Given the description of an element on the screen output the (x, y) to click on. 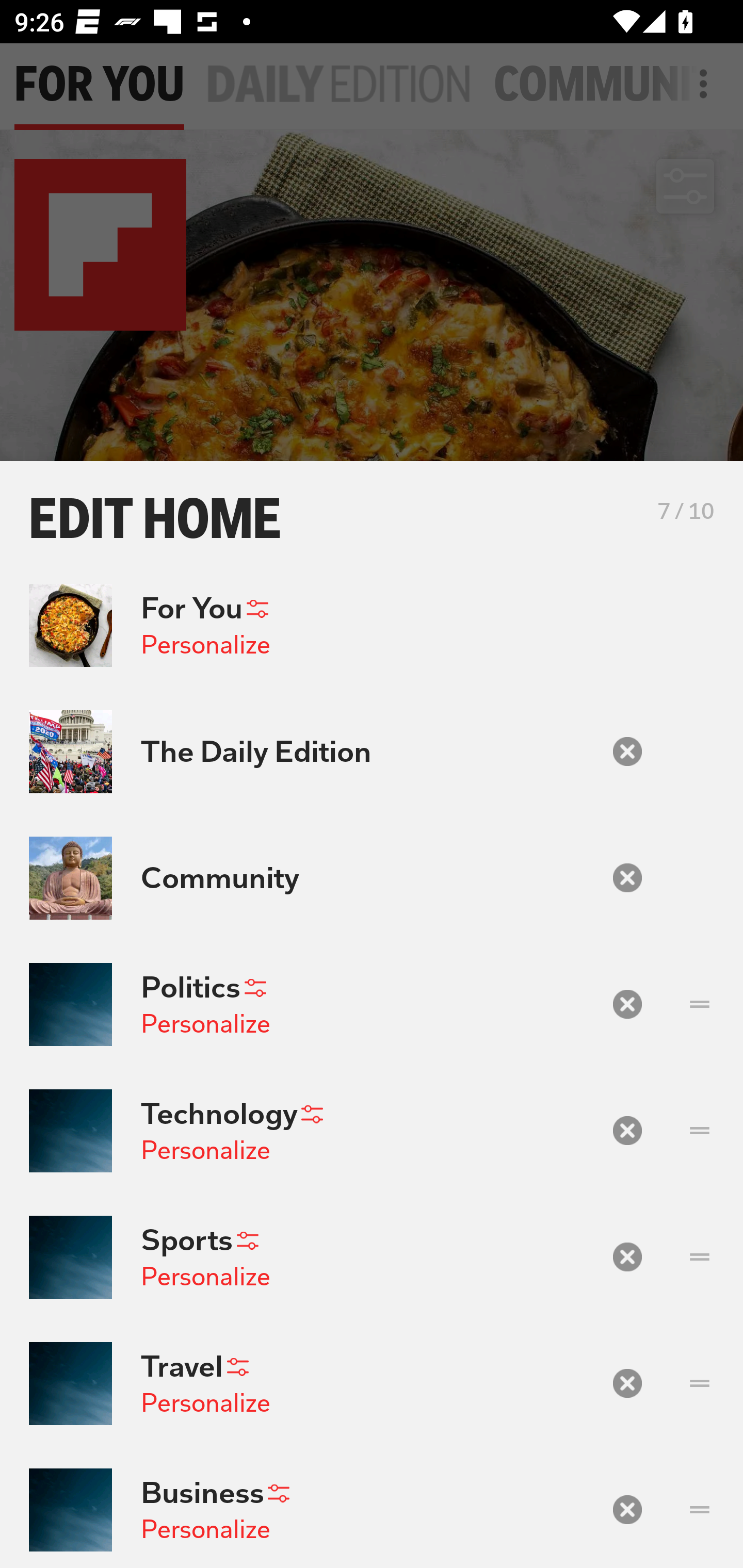
Personalize (205, 644)
Personalize (205, 1023)
Personalize (205, 1149)
Personalize (205, 1276)
Personalize (205, 1403)
Personalize (205, 1528)
